Given the description of an element on the screen output the (x, y) to click on. 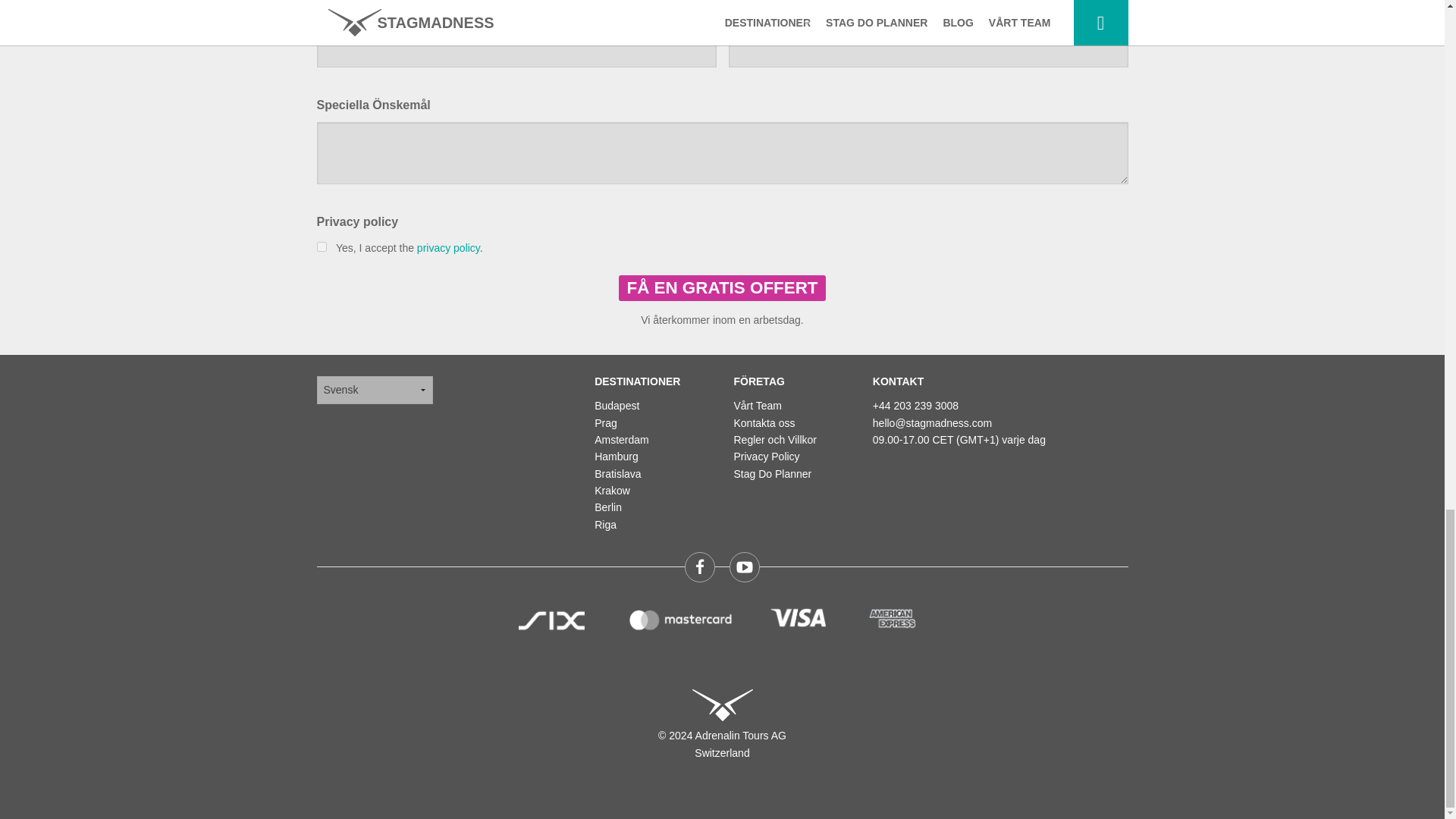
privacy policy (448, 247)
1 (321, 246)
Our stag do organizer team in  (757, 405)
Amsterdam (621, 439)
Budapest (616, 405)
Prag (605, 422)
